Given the description of an element on the screen output the (x, y) to click on. 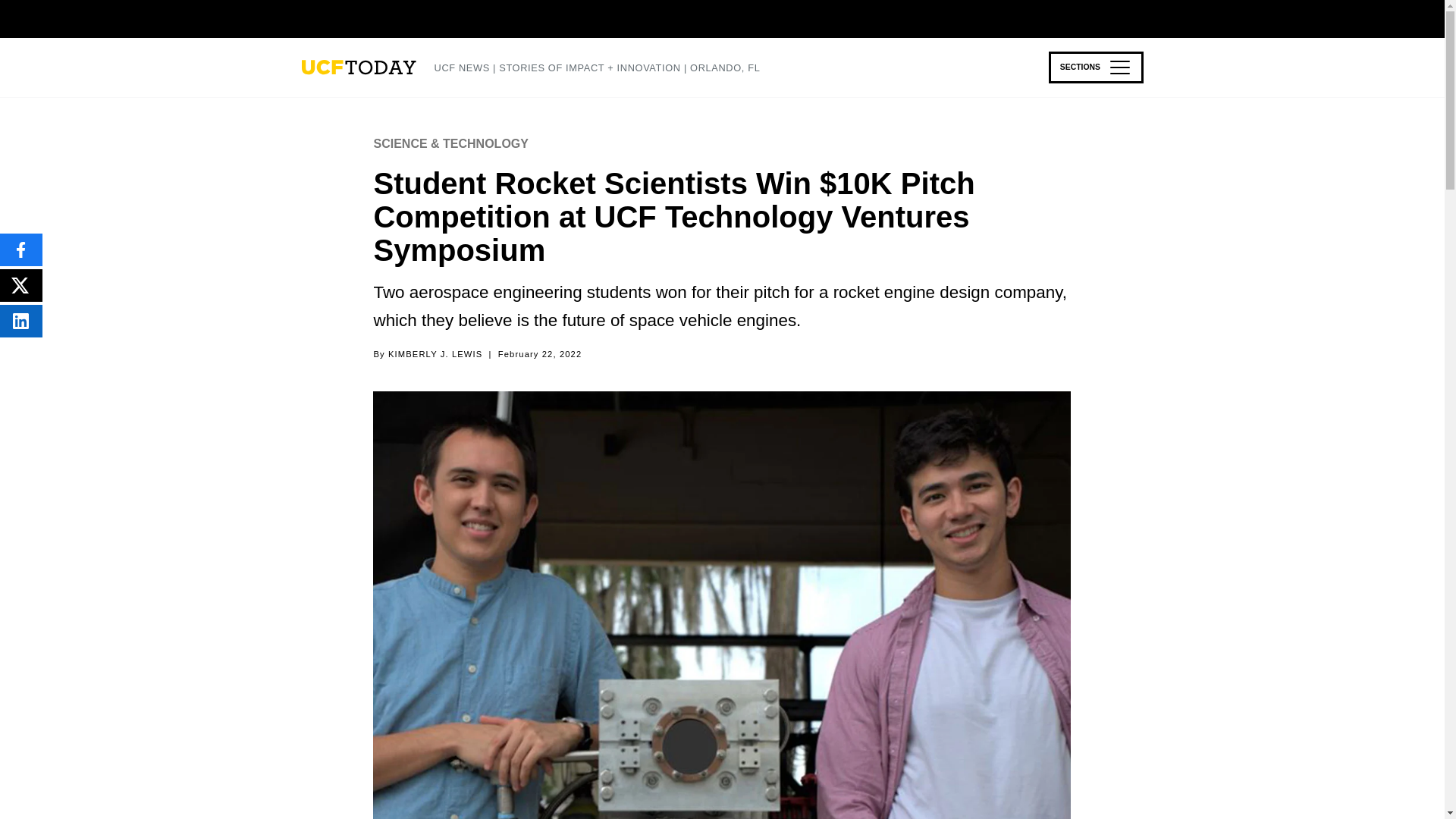
SHARE (21, 320)
SECTIONS (1095, 67)
SHARE (21, 249)
POST (21, 285)
